Given the description of an element on the screen output the (x, y) to click on. 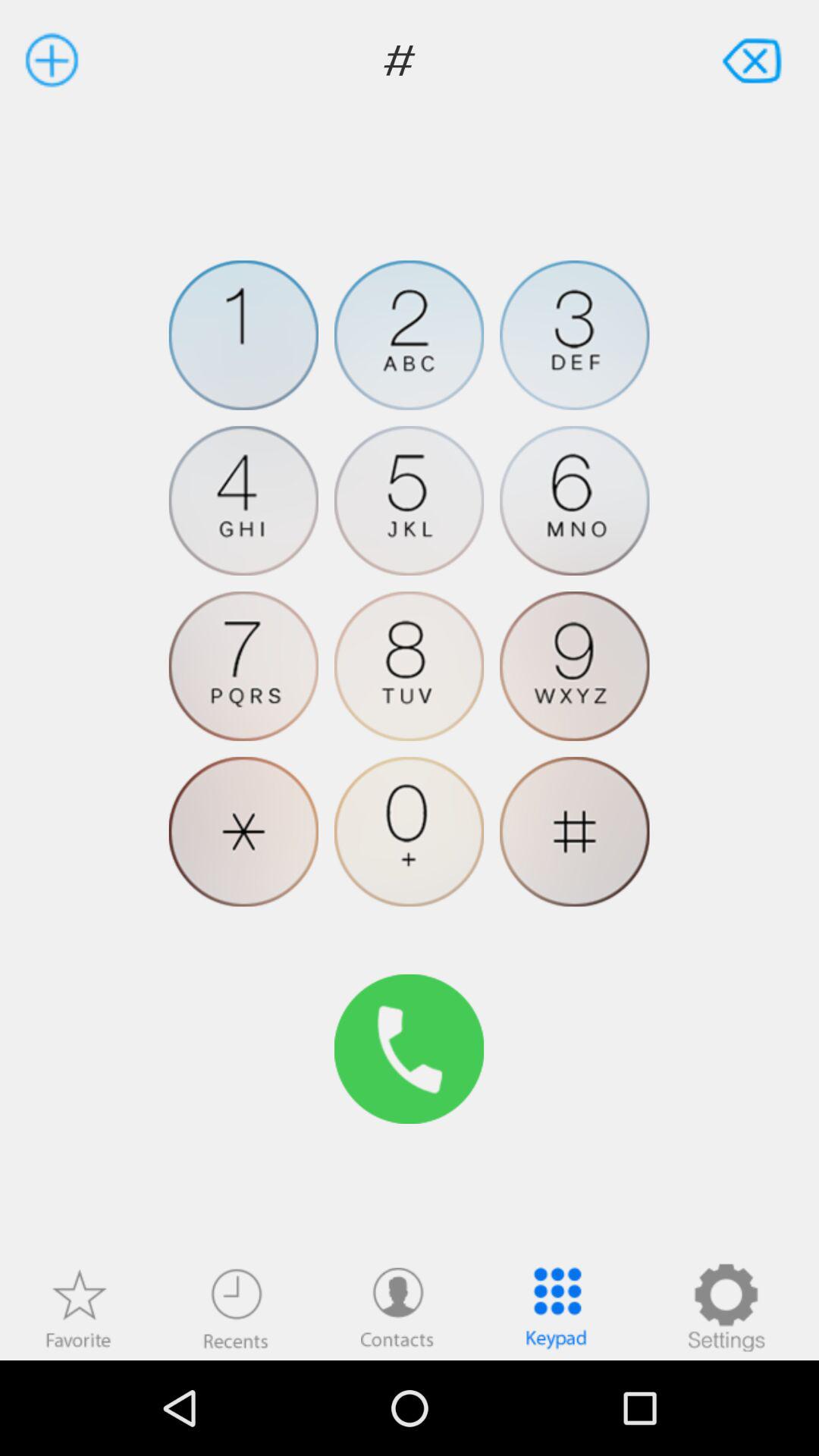
turn on app next to the # icon (754, 59)
